Given the description of an element on the screen output the (x, y) to click on. 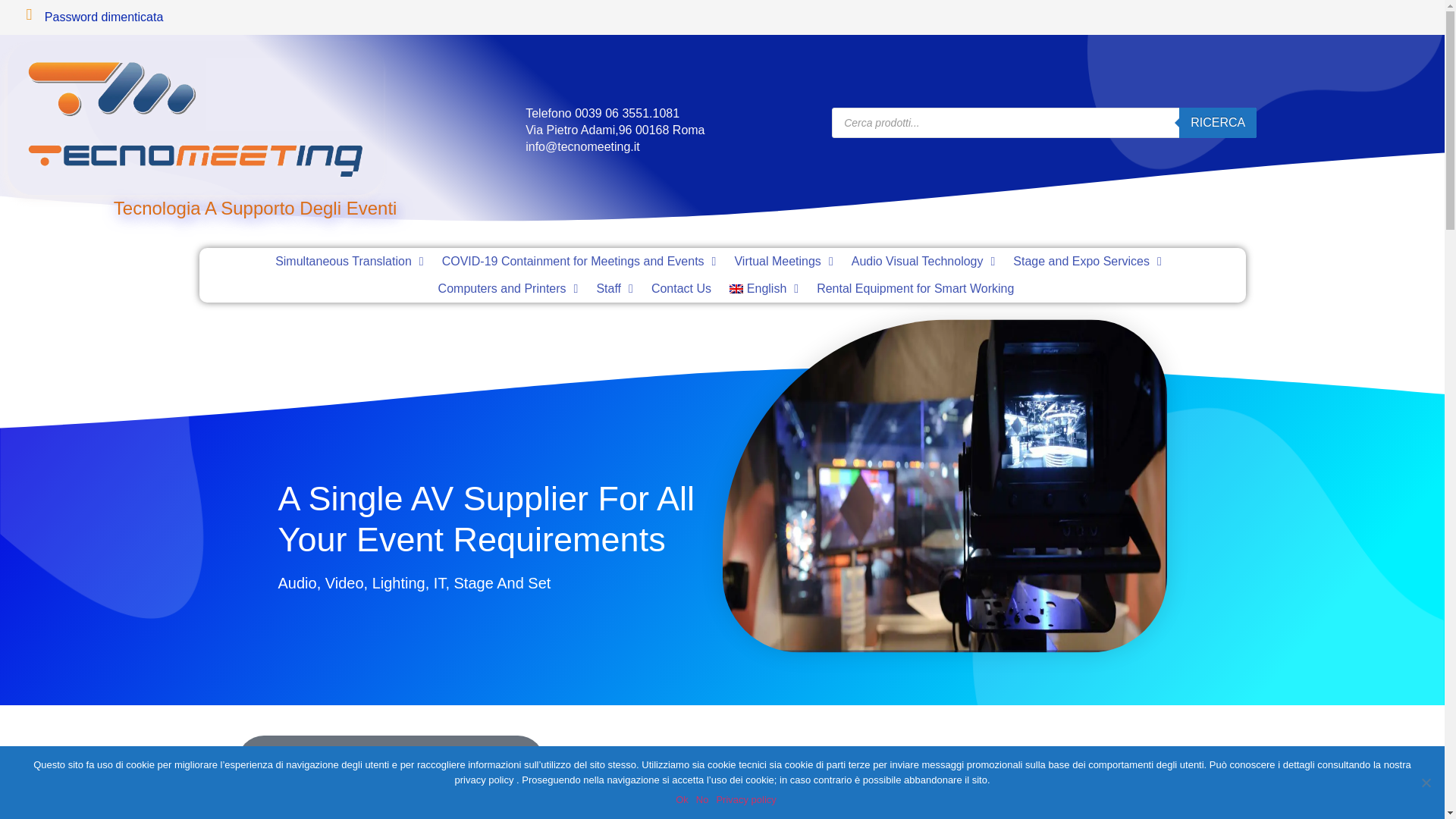
English (763, 288)
RICERCA (1217, 122)
Simultaneous Translation (349, 261)
Audio Visual Technology (923, 261)
No (1425, 782)
COVID-19 Containment for Meetings and Events (579, 261)
Password dimenticata (104, 17)
Virtual Meetings (783, 261)
